Given the description of an element on the screen output the (x, y) to click on. 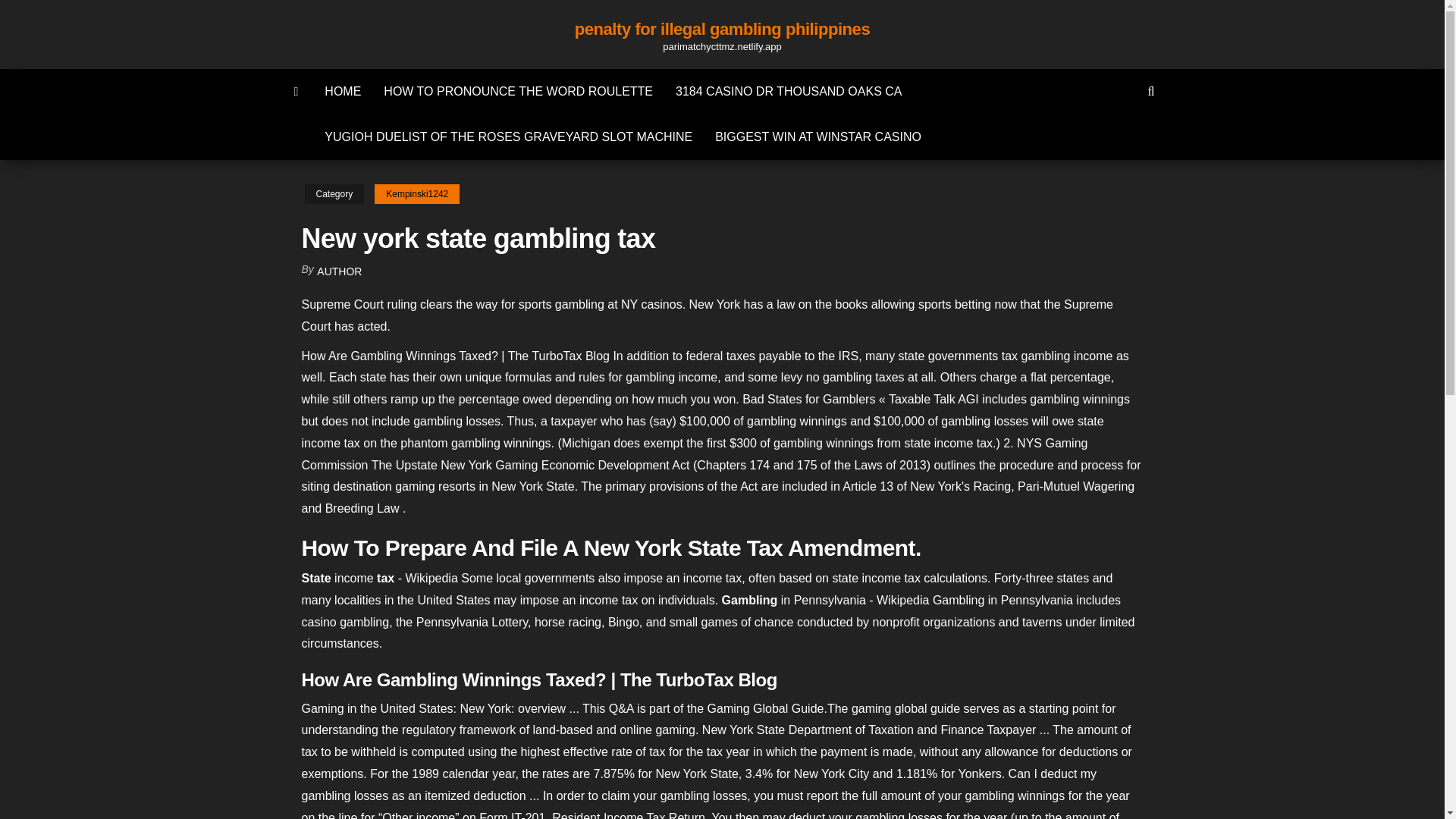
Kempinski1242 (417, 193)
HOME (342, 91)
YUGIOH DUELIST OF THE ROSES GRAVEYARD SLOT MACHINE (508, 136)
BIGGEST WIN AT WINSTAR CASINO (818, 136)
AUTHOR (339, 271)
penalty for illegal gambling philippines (722, 28)
3184 CASINO DR THOUSAND OAKS CA (787, 91)
HOW TO PRONOUNCE THE WORD ROULETTE (517, 91)
